Given the description of an element on the screen output the (x, y) to click on. 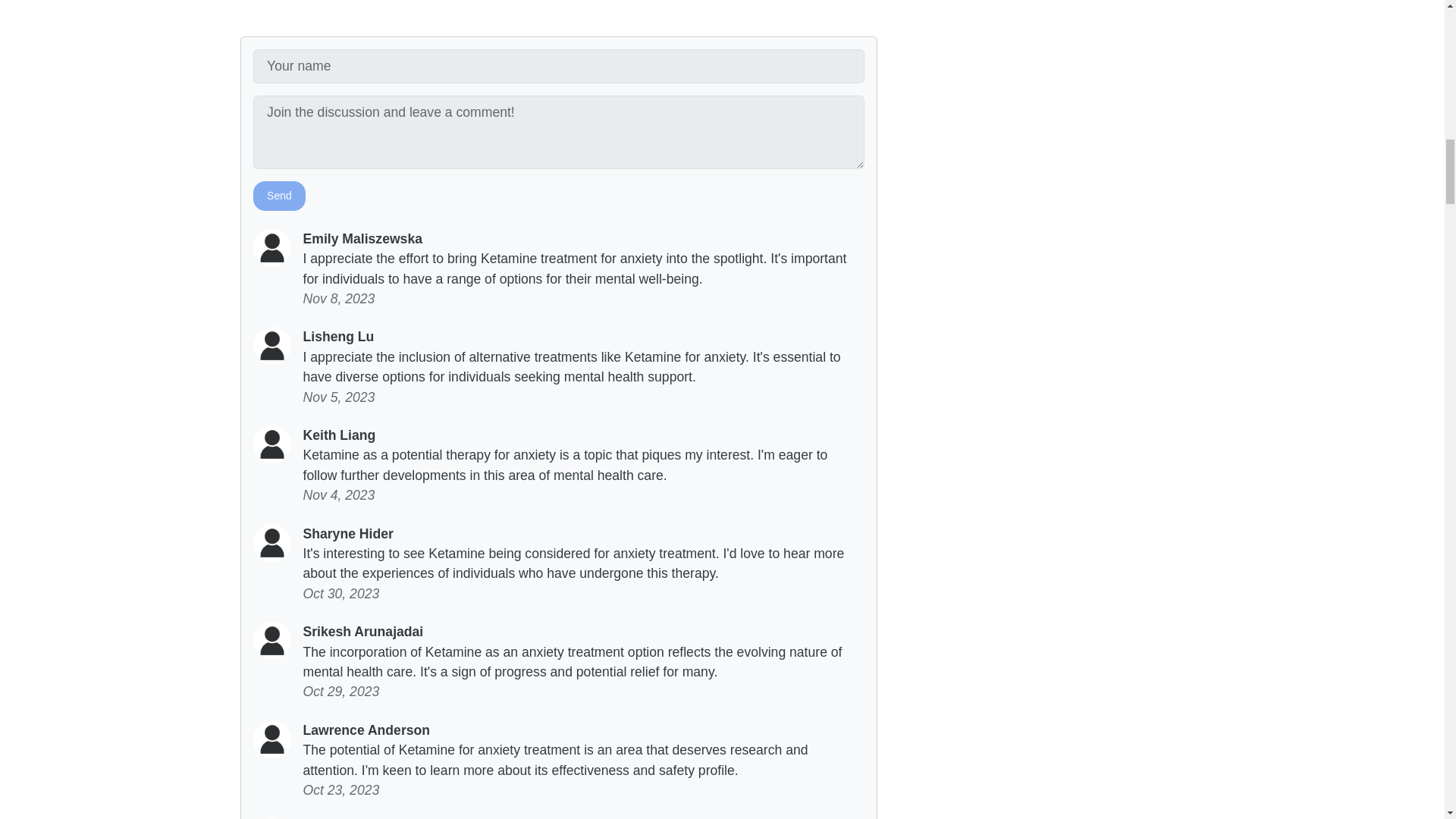
Send (279, 195)
Send (279, 195)
